Given the description of an element on the screen output the (x, y) to click on. 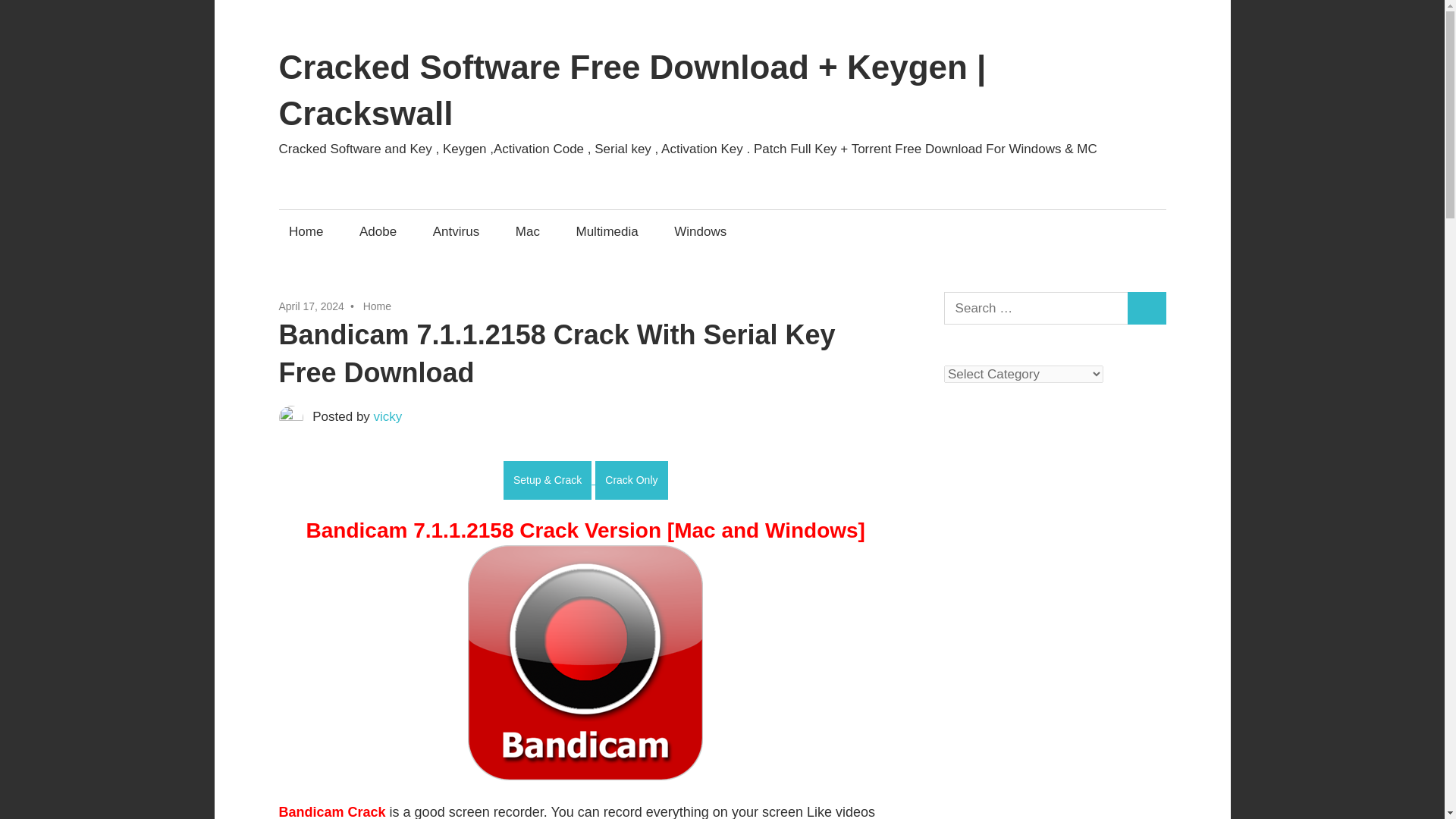
Antvirus (455, 231)
Search for: (1035, 307)
vicky (388, 416)
Crack Only (630, 480)
Mac (527, 231)
April 17, 2024 (311, 306)
Windows (699, 231)
Home (376, 306)
View all posts by vicky (388, 416)
Multimedia (606, 231)
